Given the description of an element on the screen output the (x, y) to click on. 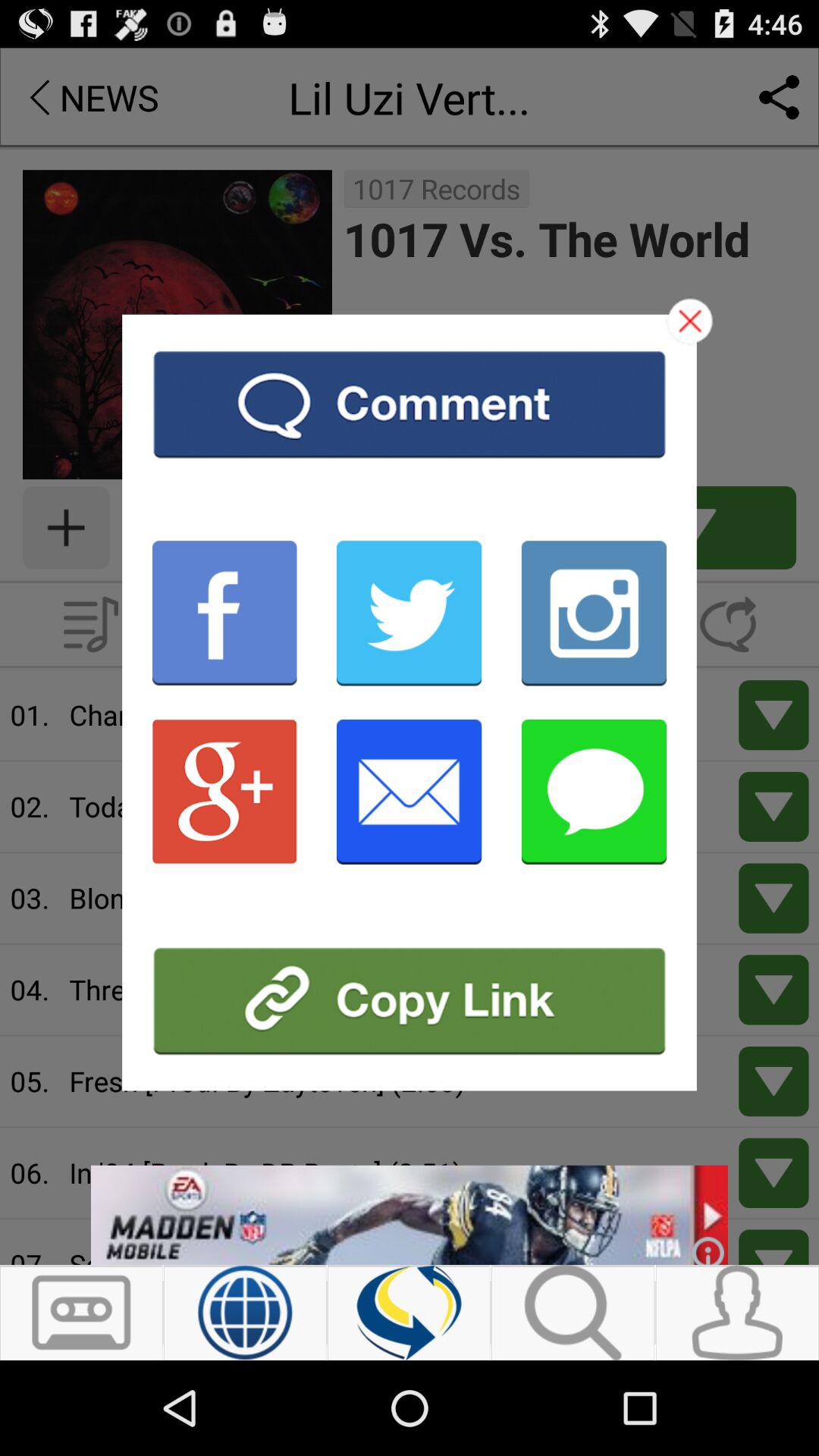
go to facebook (224, 612)
